Given the description of an element on the screen output the (x, y) to click on. 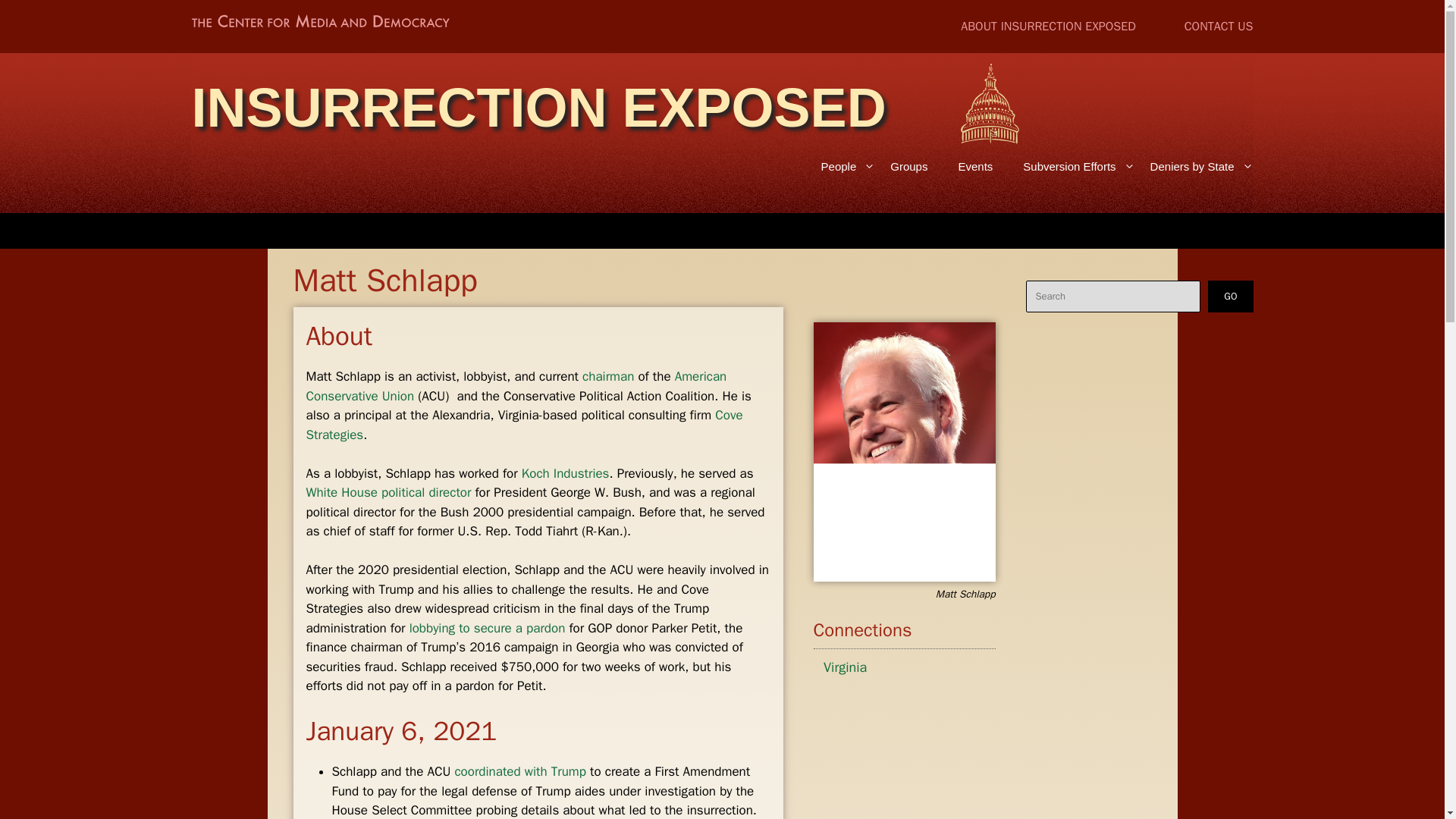
chairman (607, 376)
Subversion Efforts (1070, 166)
Koch Industries (565, 473)
Deniers by State (1194, 166)
INSURRECTION EXPOSED (537, 107)
The Center for Media and Democracy (319, 24)
GO (1230, 296)
Cove Strategies (523, 425)
lobbying to secure a pardon (487, 627)
ABOUT INSURRECTION EXPOSED (1047, 26)
